Given the description of an element on the screen output the (x, y) to click on. 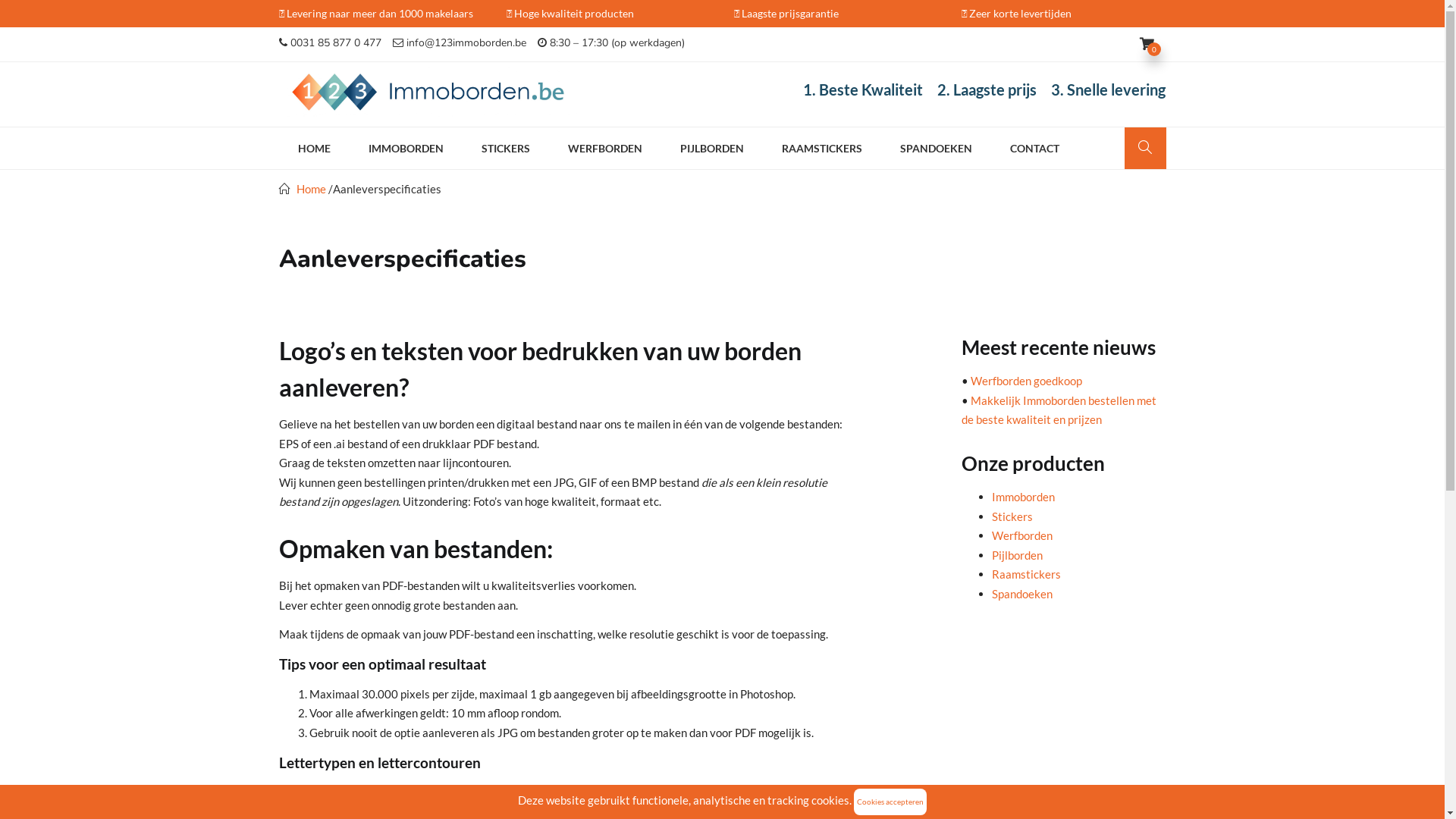
0 Element type: text (1152, 43)
WERFBORDEN Element type: text (605, 148)
Werfborden Element type: text (1021, 535)
IMMOBORDEN Element type: text (404, 148)
Immoborden Element type: text (1022, 496)
Werfborden goedkoop Element type: text (1026, 380)
Raamstickers Element type: text (1025, 573)
SPANDOEKEN Element type: text (936, 148)
Spandoeken Element type: text (1021, 593)
Cookies accepteren Element type: text (889, 801)
0031 85 877 0 477 Element type: text (330, 42)
Stickers Element type: text (1011, 516)
info@123immoborden.be Element type: text (459, 42)
RAAMSTICKERS Element type: text (821, 148)
STICKERS Element type: text (505, 148)
PIJLBORDEN Element type: text (711, 148)
Home Element type: text (310, 188)
HOME Element type: text (314, 148)
Pijlborden Element type: text (1016, 554)
CONTACT Element type: text (1033, 148)
